Given the description of an element on the screen output the (x, y) to click on. 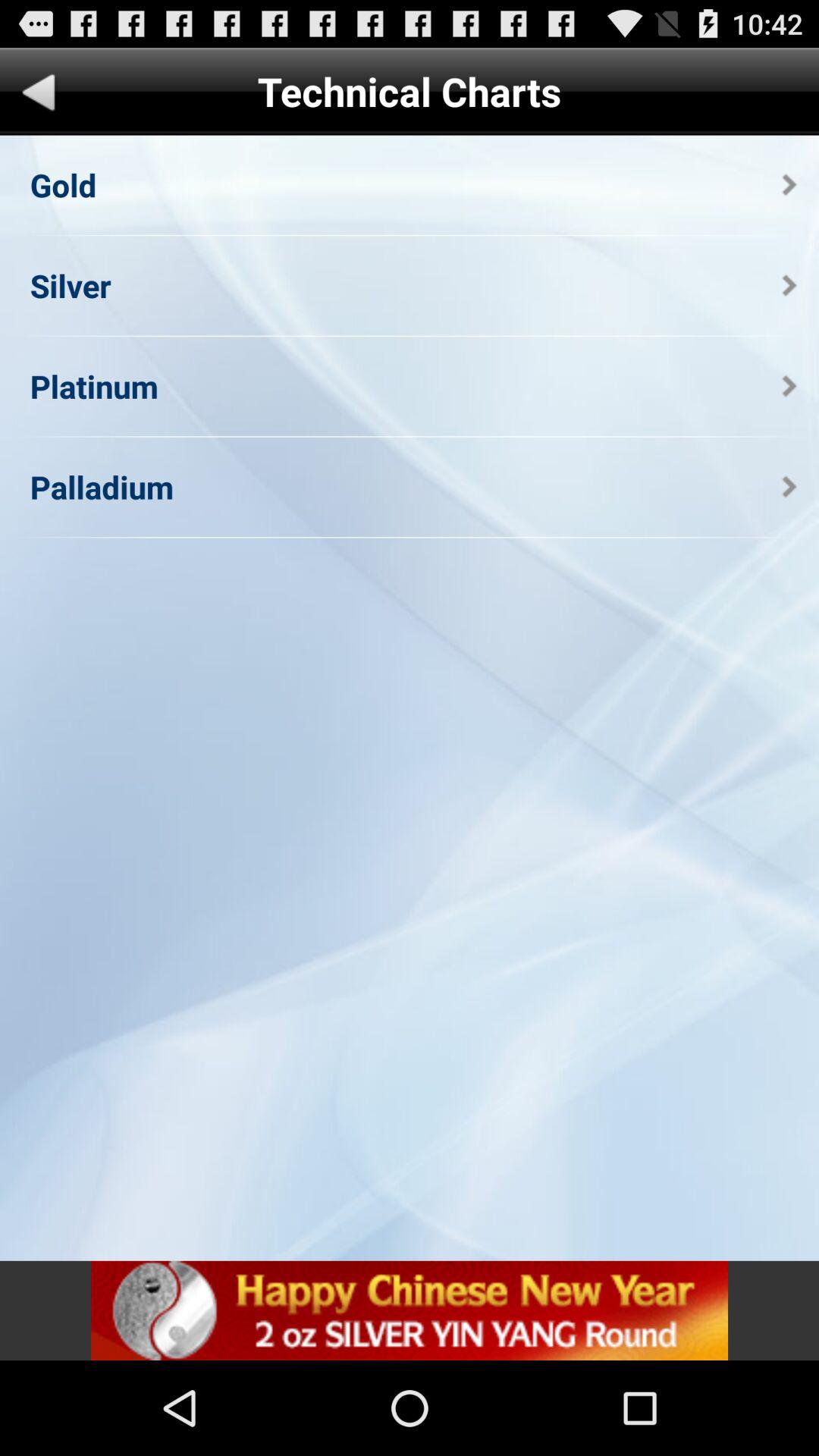
tap silver app (70, 285)
